Given the description of an element on the screen output the (x, y) to click on. 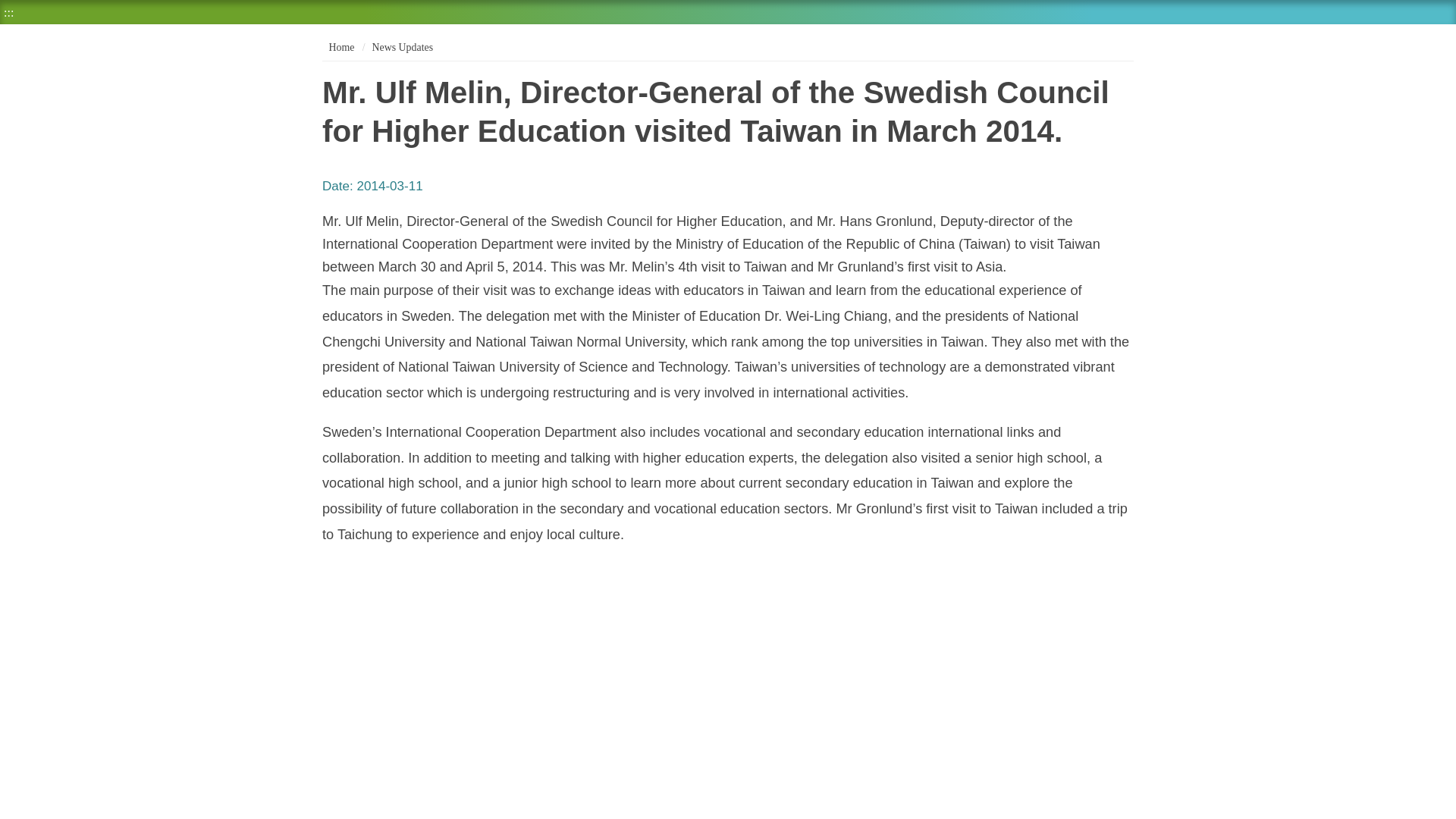
Home (339, 47)
News Updates (402, 47)
Home (339, 47)
News Updates (402, 47)
